Given the description of an element on the screen output the (x, y) to click on. 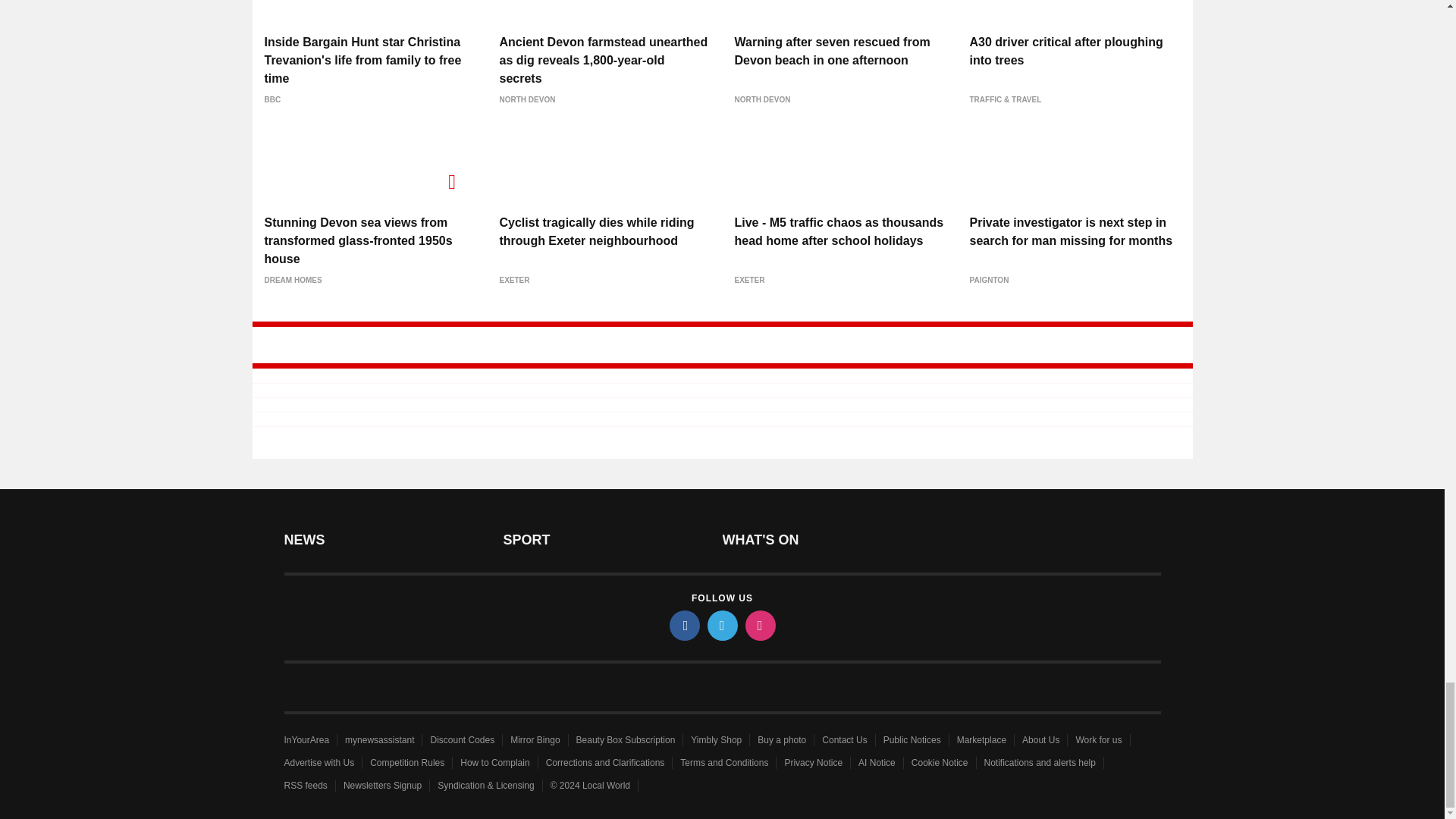
twitter (721, 625)
facebook (683, 625)
instagram (759, 625)
